Given the description of an element on the screen output the (x, y) to click on. 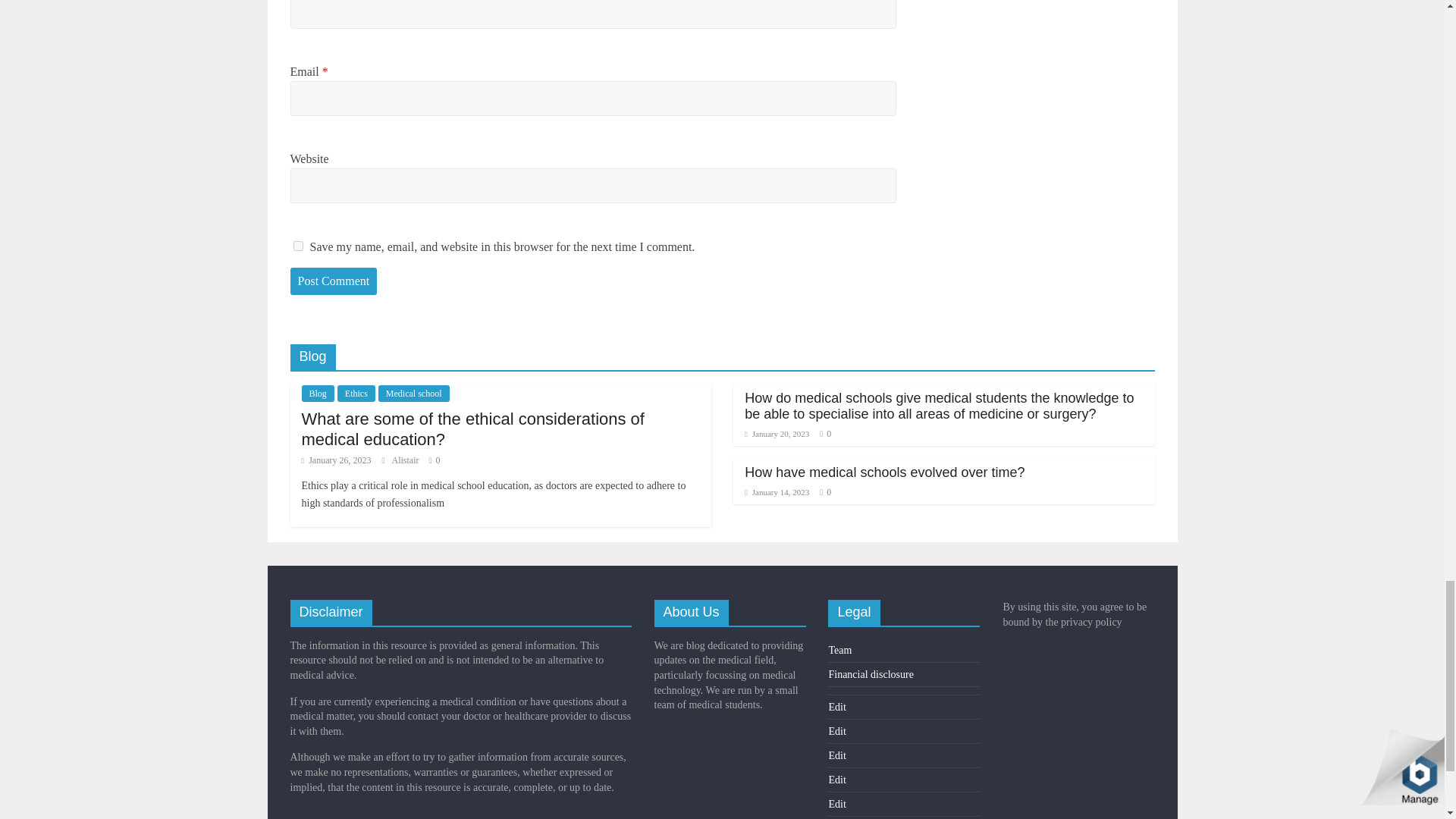
Post Comment (333, 280)
yes (297, 245)
